Given the description of an element on the screen output the (x, y) to click on. 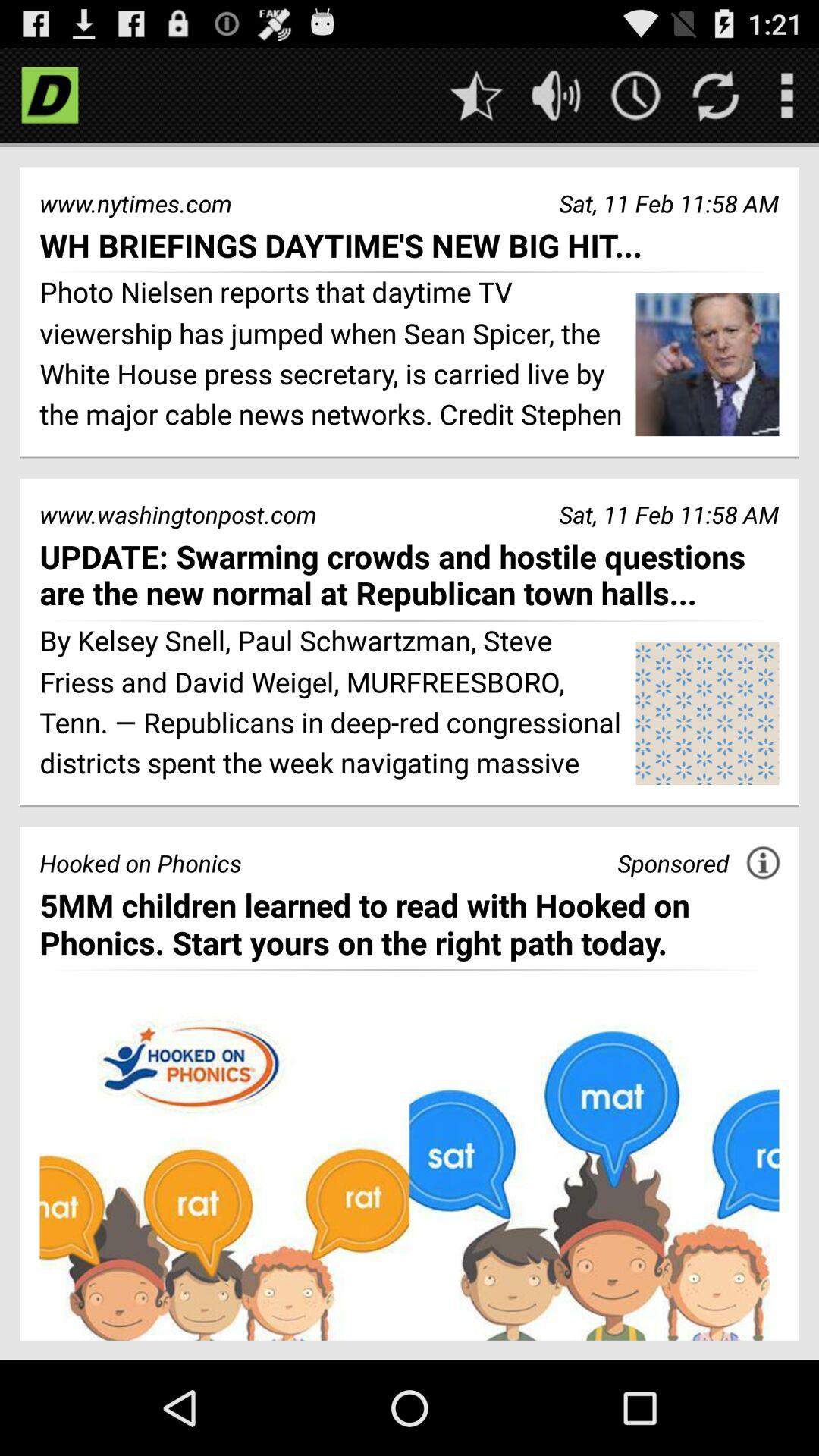
turn on the photo nielsen reports (332, 356)
